Given the description of an element on the screen output the (x, y) to click on. 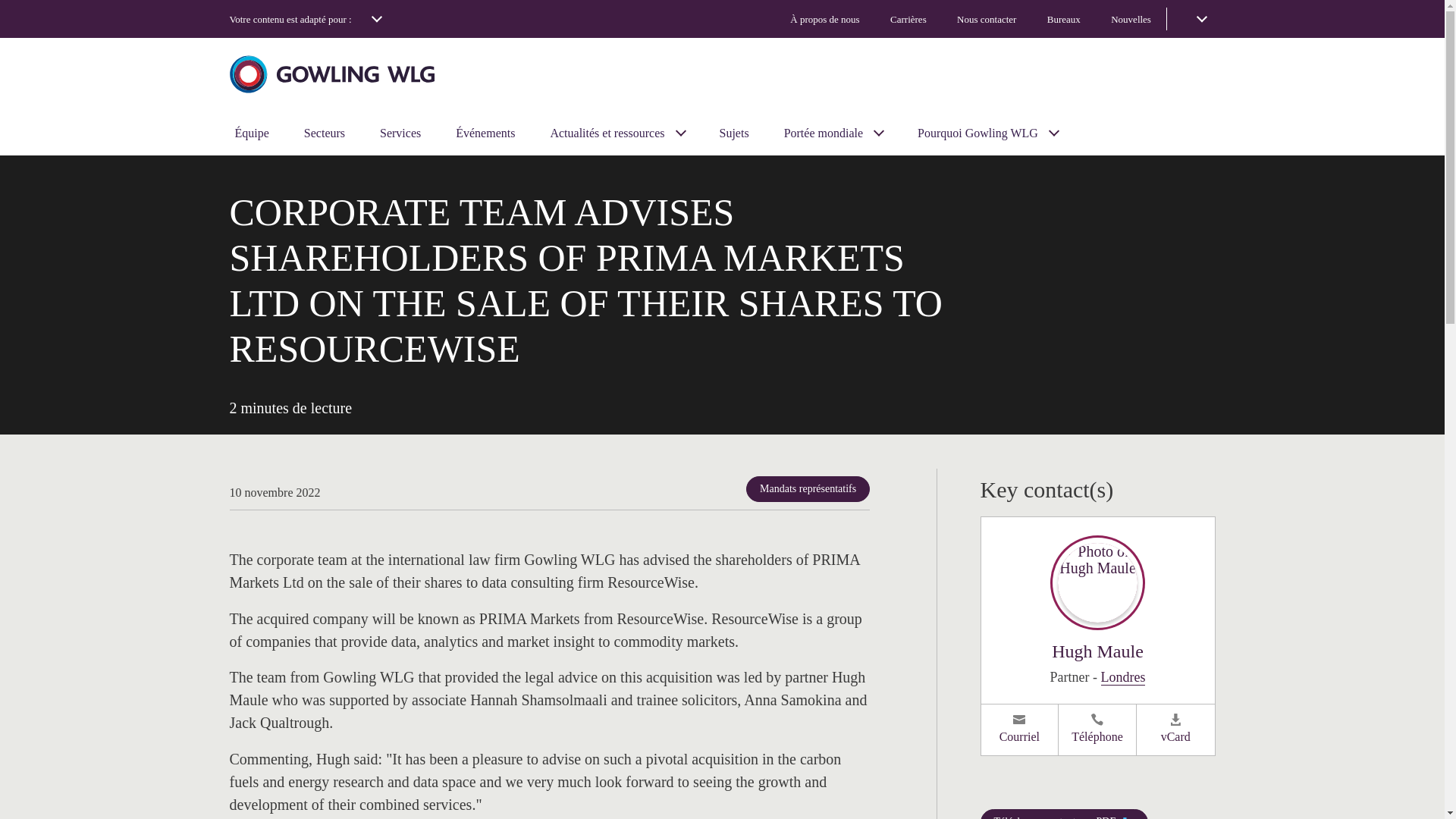
Secteurs (324, 132)
Nouvelles (1131, 18)
Gowling WLG (330, 72)
Sujets (733, 132)
Cliquer pour obtenir davantage d'options linguistiques (1196, 18)
Nous contacter (986, 18)
Bureaux (1063, 18)
Services (400, 132)
